Given the description of an element on the screen output the (x, y) to click on. 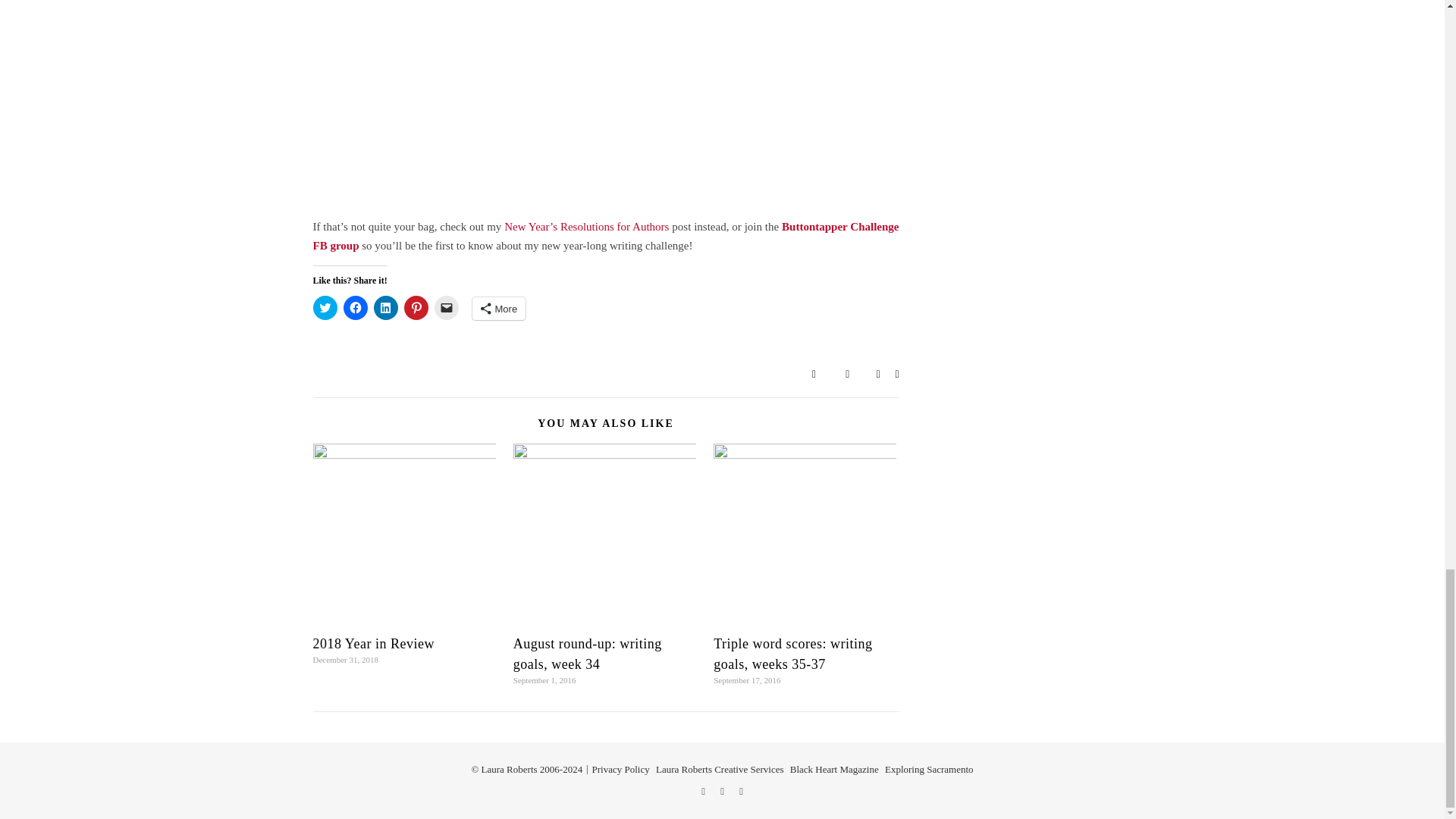
Click to share on Facebook (354, 307)
Click to email a link to a friend (445, 307)
Click to share on Pinterest (415, 307)
Click to share on Twitter (324, 307)
Click to share on LinkedIn (384, 307)
